Given the description of an element on the screen output the (x, y) to click on. 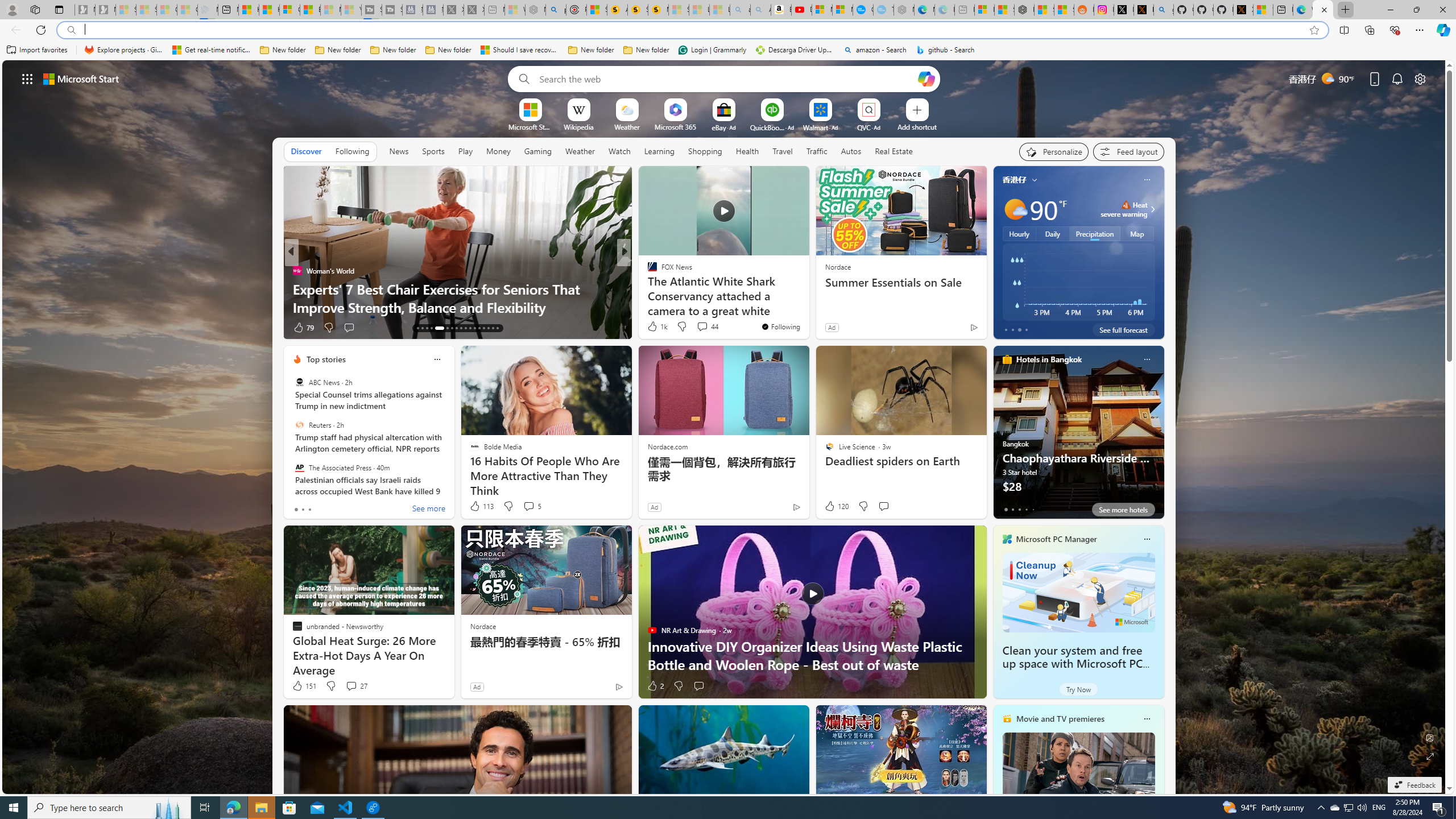
Top stories (325, 359)
INSIDER (647, 270)
Discover (306, 151)
Discover (306, 151)
github - Search (1162, 9)
Split screen (1344, 29)
Health (746, 151)
help.x.com | 524: A timeout occurred (1143, 9)
Ripple CEO: XRP ETF comes in 2025 (807, 307)
View comments 44 Comment (701, 326)
